Given the description of an element on the screen output the (x, y) to click on. 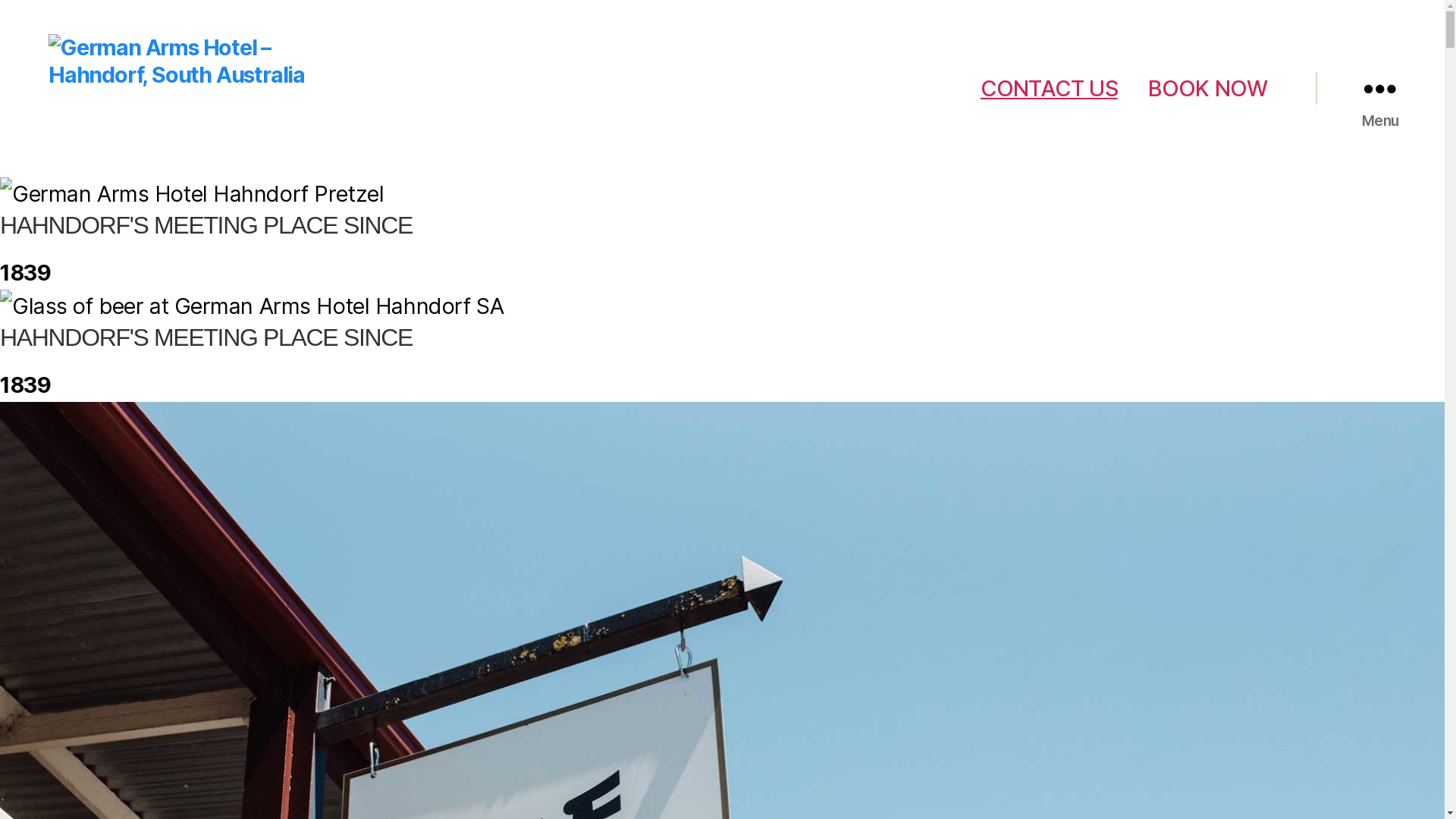
CONTACT US Element type: text (1048, 88)
Menu Element type: text (1379, 88)
BOOK NOW Element type: text (1207, 88)
